Given the description of an element on the screen output the (x, y) to click on. 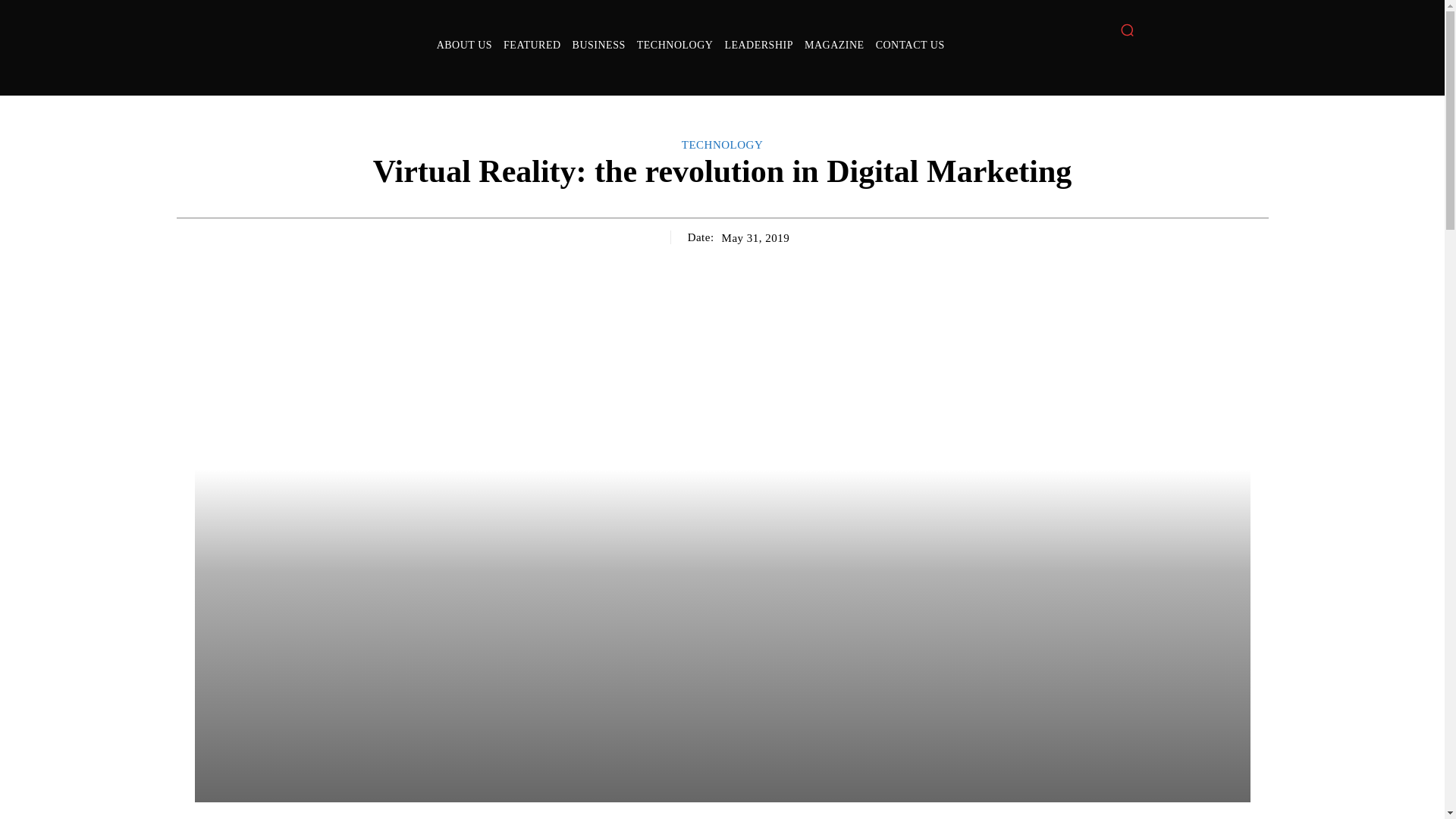
FEATURED (531, 45)
MAGAZINE (833, 45)
LEADERSHIP (758, 45)
BUSINESS (598, 45)
ABOUT US (464, 45)
TECHNOLOGY (675, 45)
